Given the description of an element on the screen output the (x, y) to click on. 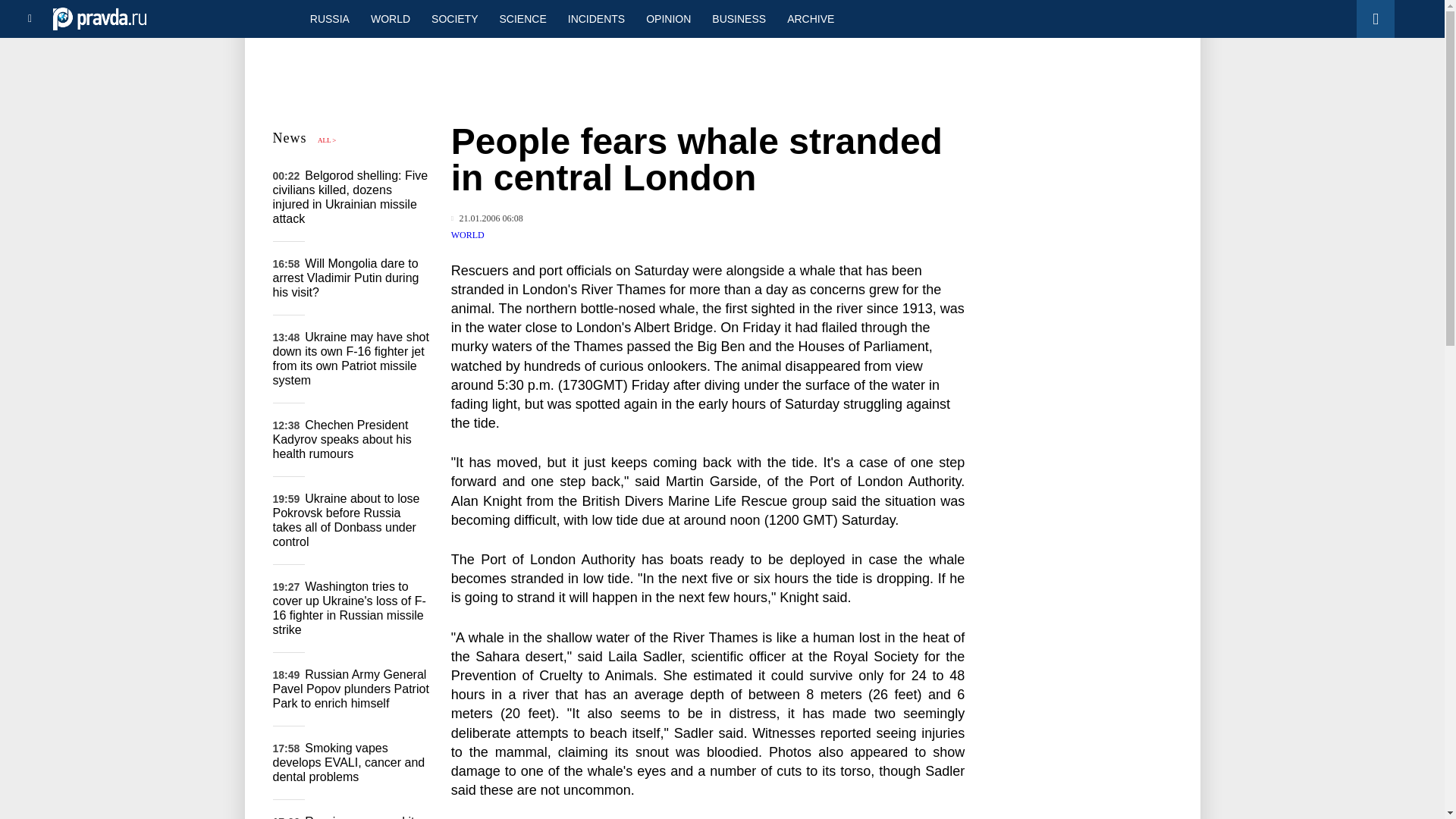
Chechen President Kadyrov speaks about his health rumours (342, 439)
SOCIETY (453, 18)
INCIDENTS (595, 18)
OPINION (667, 18)
Published (486, 218)
SCIENCE (523, 18)
ARCHIVE (810, 18)
